Given the description of an element on the screen output the (x, y) to click on. 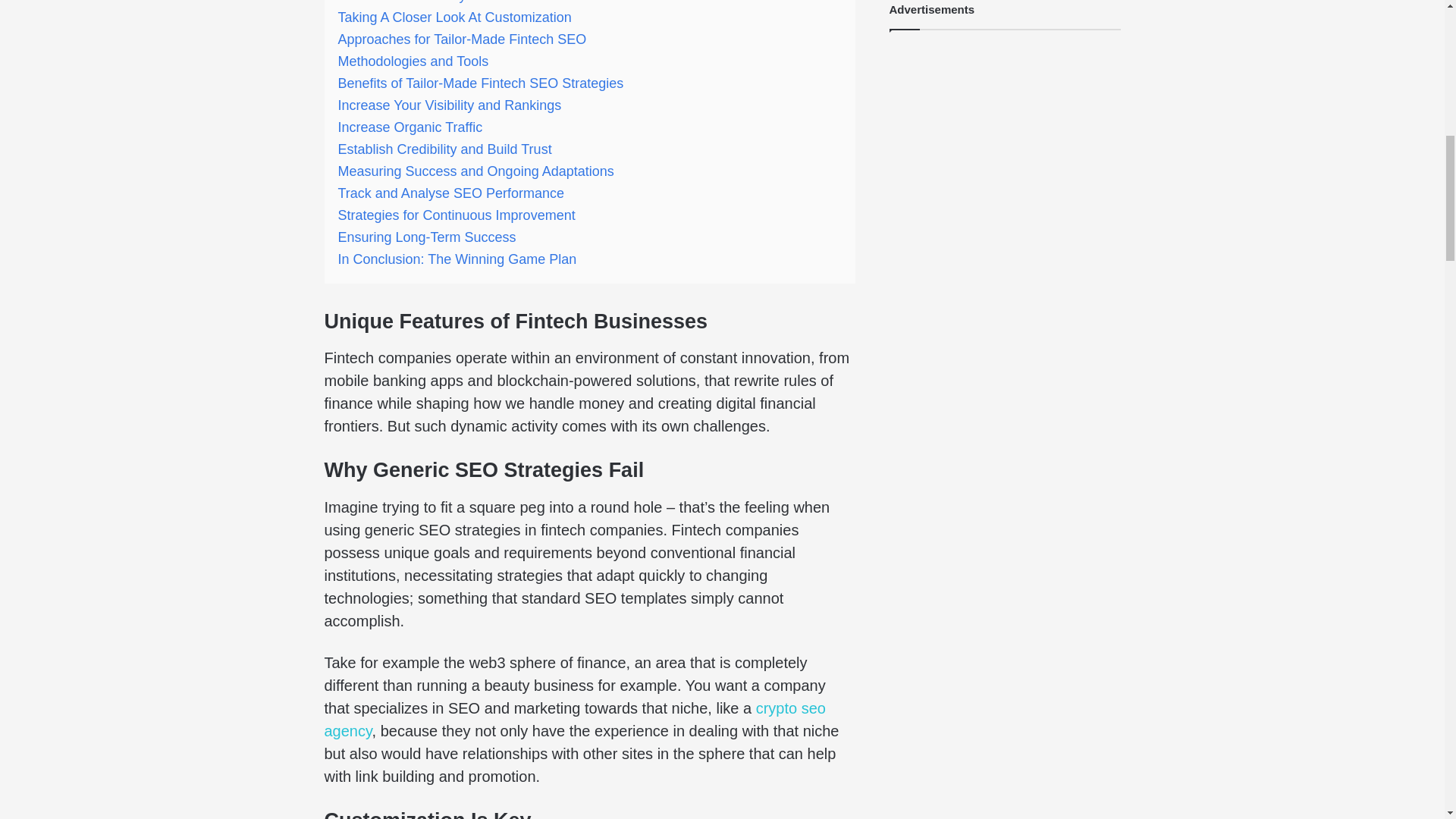
Taking A Closer Look At Customization (454, 17)
Measuring Success and Ongoing Adaptations (475, 171)
crypto seo agency (574, 719)
Increase Your Visibility and Rankings (449, 105)
Establish Credibility and Build Trust (444, 149)
Ensuring Long-Term Success (426, 237)
Customization Is Key (401, 1)
In Conclusion: The Winning Game Plan (456, 258)
Increase Organic Traffic (410, 127)
Strategies for Continuous Improvement (456, 215)
Approaches for Tailor-Made Fintech SEO (461, 38)
Track and Analyse SEO Performance (450, 192)
Methodologies and Tools (413, 61)
Benefits of Tailor-Made Fintech SEO Strategies (480, 83)
